Given the description of an element on the screen output the (x, y) to click on. 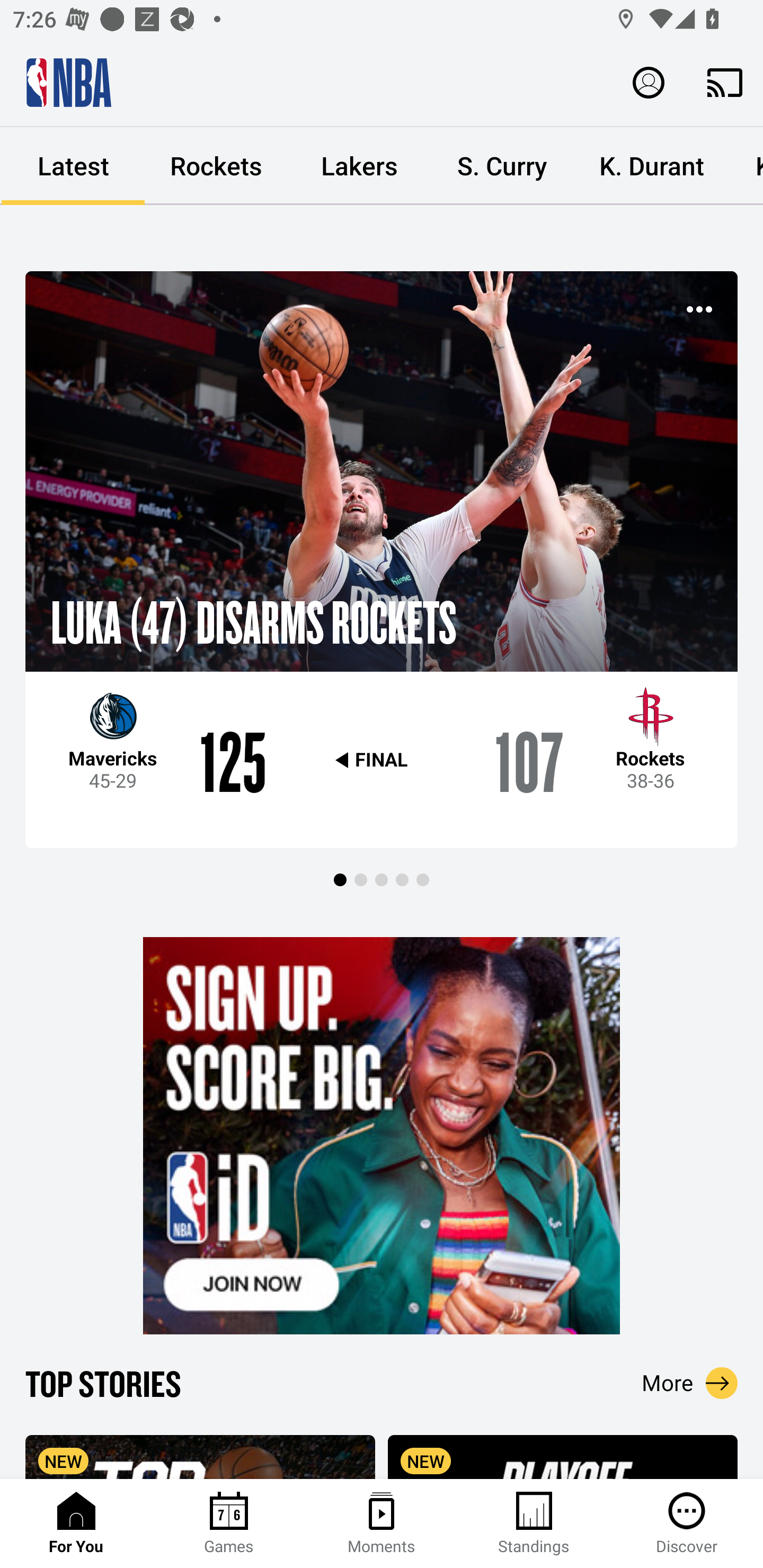
Cast. Disconnected (724, 82)
Profile (648, 81)
Rockets (215, 166)
Lakers (359, 166)
S. Curry (502, 166)
K. Durant (651, 166)
More (689, 1382)
Games (228, 1523)
Moments (381, 1523)
Standings (533, 1523)
Discover (686, 1523)
